Given the description of an element on the screen output the (x, y) to click on. 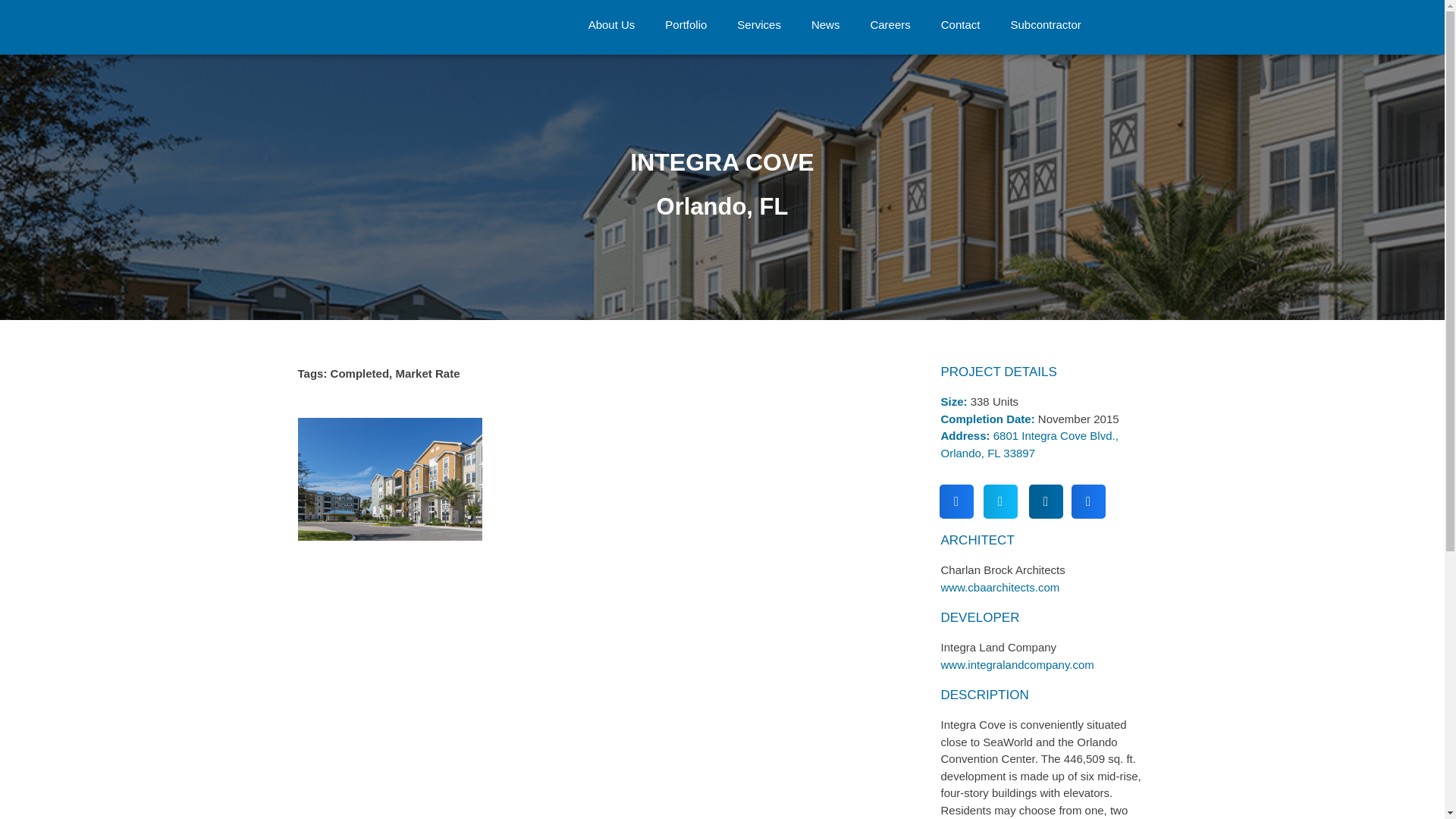
Careers (889, 24)
Contact (960, 24)
About Us (611, 24)
News (826, 24)
Portfolio (685, 24)
Services (759, 24)
Subcontractor (1045, 24)
